Given the description of an element on the screen output the (x, y) to click on. 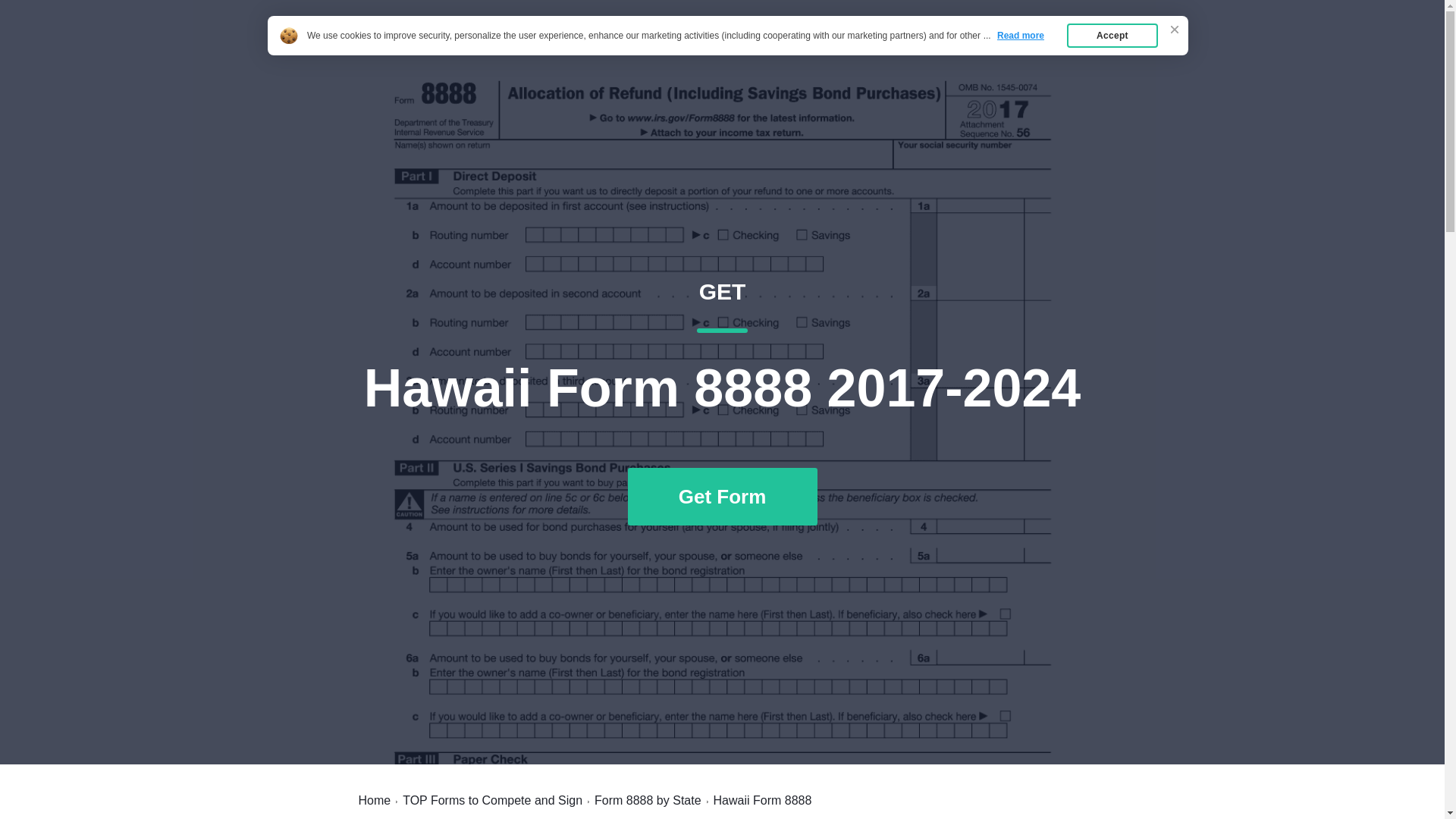
Home (374, 800)
Form 8888 (397, 46)
TOP Forms to Compete and Sign (492, 800)
Form 8888 by State (647, 800)
Top Forms (987, 47)
